Given the description of an element on the screen output the (x, y) to click on. 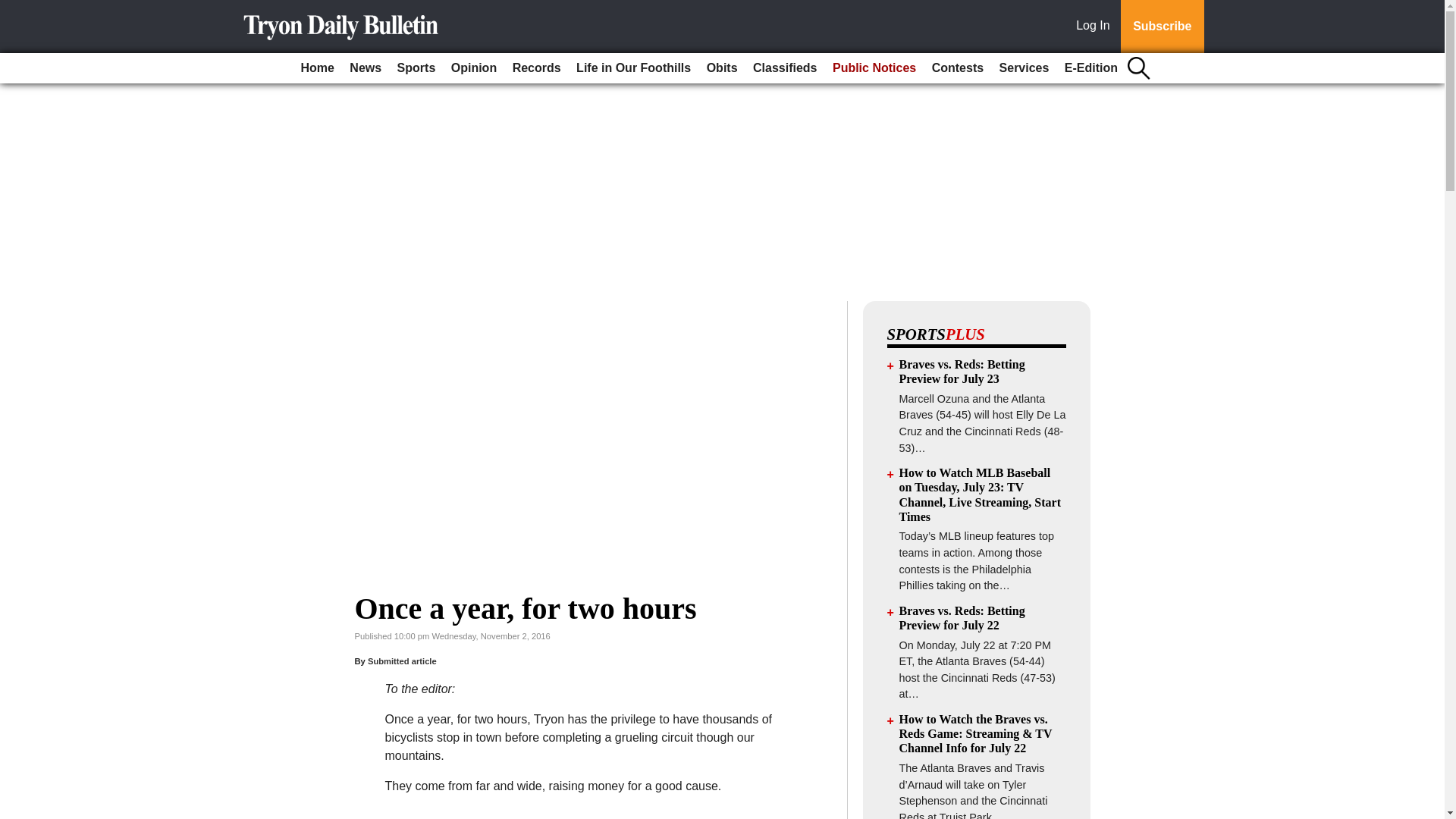
Public Notices (874, 68)
Records (536, 68)
E-Edition (1091, 68)
Services (1023, 68)
Opinion (473, 68)
Contests (958, 68)
Home (316, 68)
Classifieds (784, 68)
Obits (722, 68)
Submitted article (402, 660)
Sports (416, 68)
News (365, 68)
Go (13, 9)
Life in Our Foothills (633, 68)
Subscribe (1162, 26)
